Given the description of an element on the screen output the (x, y) to click on. 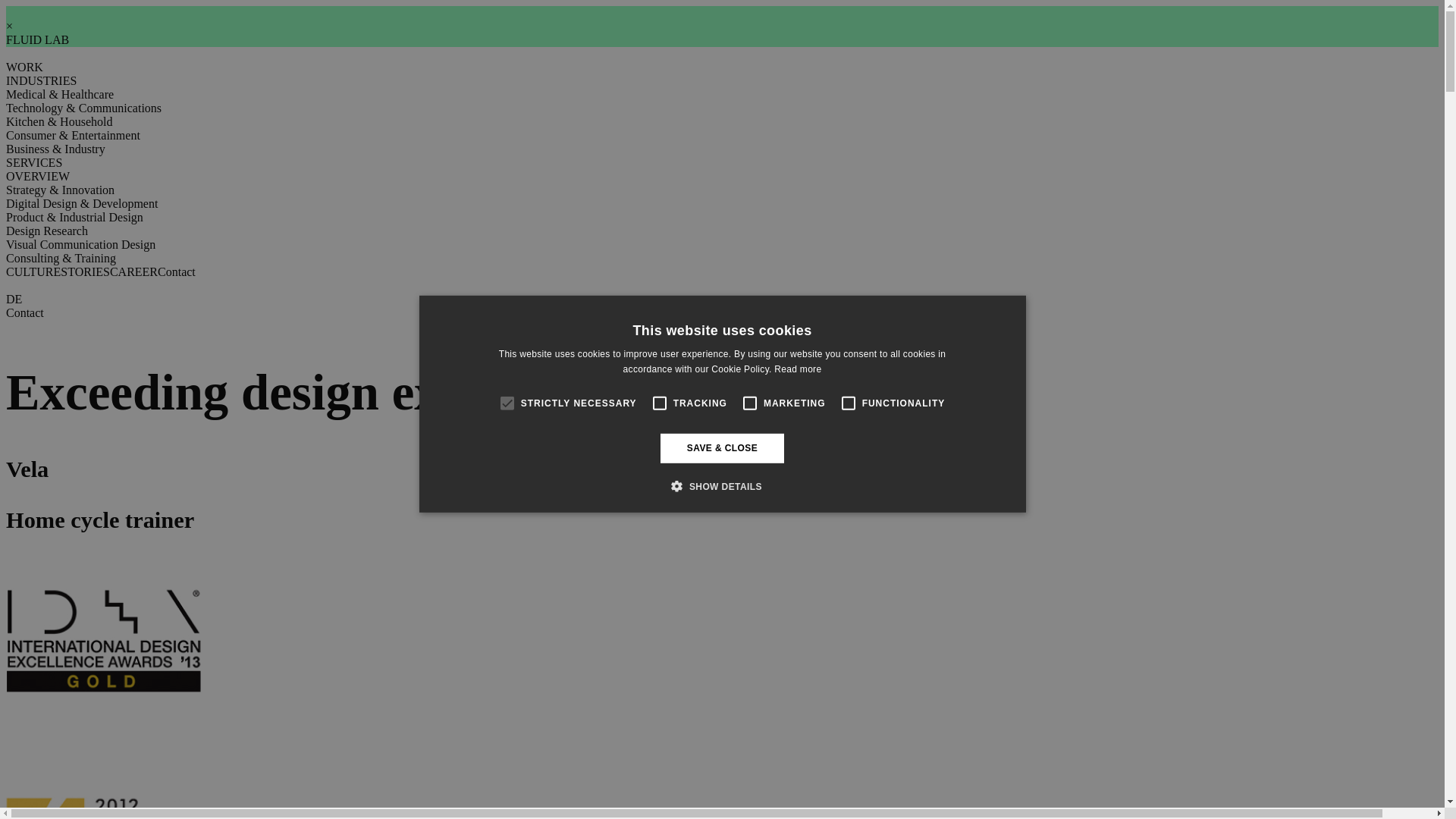
DE (13, 298)
Contact (176, 271)
OVERVIEW (37, 175)
Contact (24, 312)
CAREER (133, 271)
Visual Communication Design (80, 244)
Design Research (46, 230)
STORIES (85, 271)
WORK (24, 66)
Read more (797, 368)
CULTURE (33, 271)
